Given the description of an element on the screen output the (x, y) to click on. 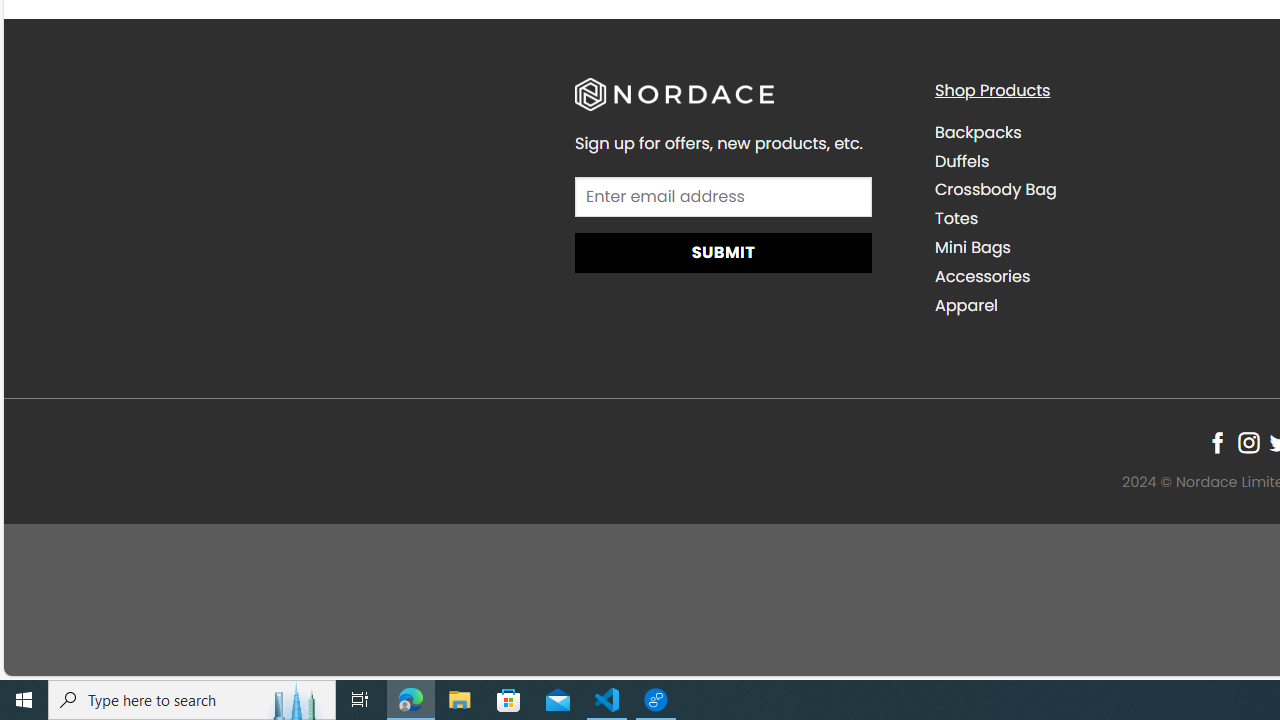
Follow on Instagram (1248, 442)
AutomationID: field_4_1 (722, 199)
Totes (1099, 218)
Submit (722, 253)
Mini Bags (972, 247)
Accessories (1099, 276)
AutomationID: input_4_1 (722, 196)
Backpacks (1099, 132)
Apparel (1099, 305)
Apparel (966, 304)
Totes (955, 219)
Crossbody Bag (995, 189)
Backpacks (977, 132)
Accessories (982, 276)
Duffels (1099, 161)
